Given the description of an element on the screen output the (x, y) to click on. 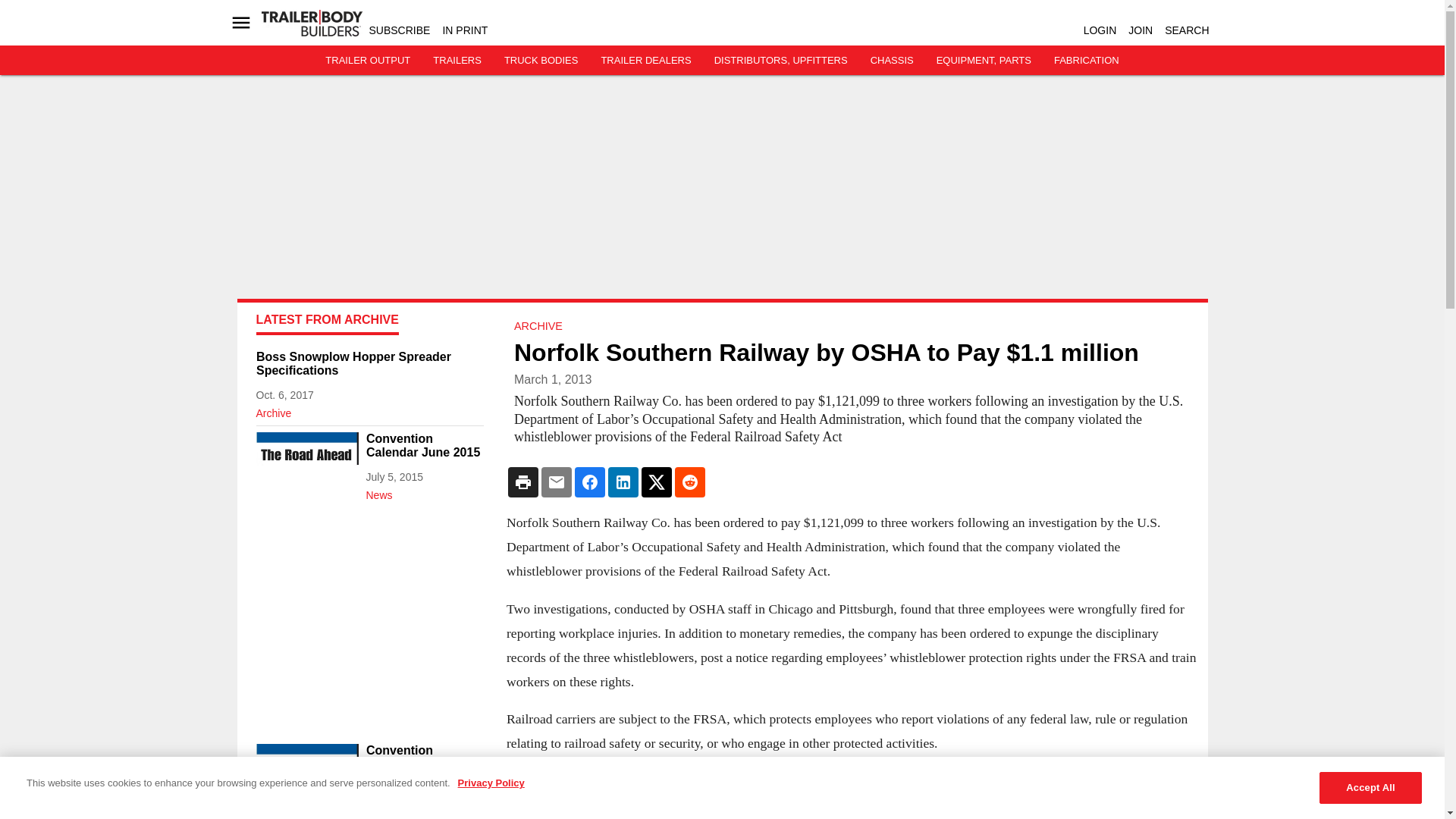
Image (307, 460)
Boss Snowplow Hopper Spreader Specifications (369, 363)
TRAILERS (456, 60)
Archive (369, 410)
CHASSIS (892, 60)
SUBSCRIBE (398, 30)
TRUCK BODIES (540, 60)
SEARCH (1186, 30)
FABRICATION (1086, 60)
JOIN (1140, 30)
LOGIN (1099, 30)
Image (307, 771)
DISTRIBUTORS, UPFITTERS (780, 60)
IN PRINT (464, 30)
